Given the description of an element on the screen output the (x, y) to click on. 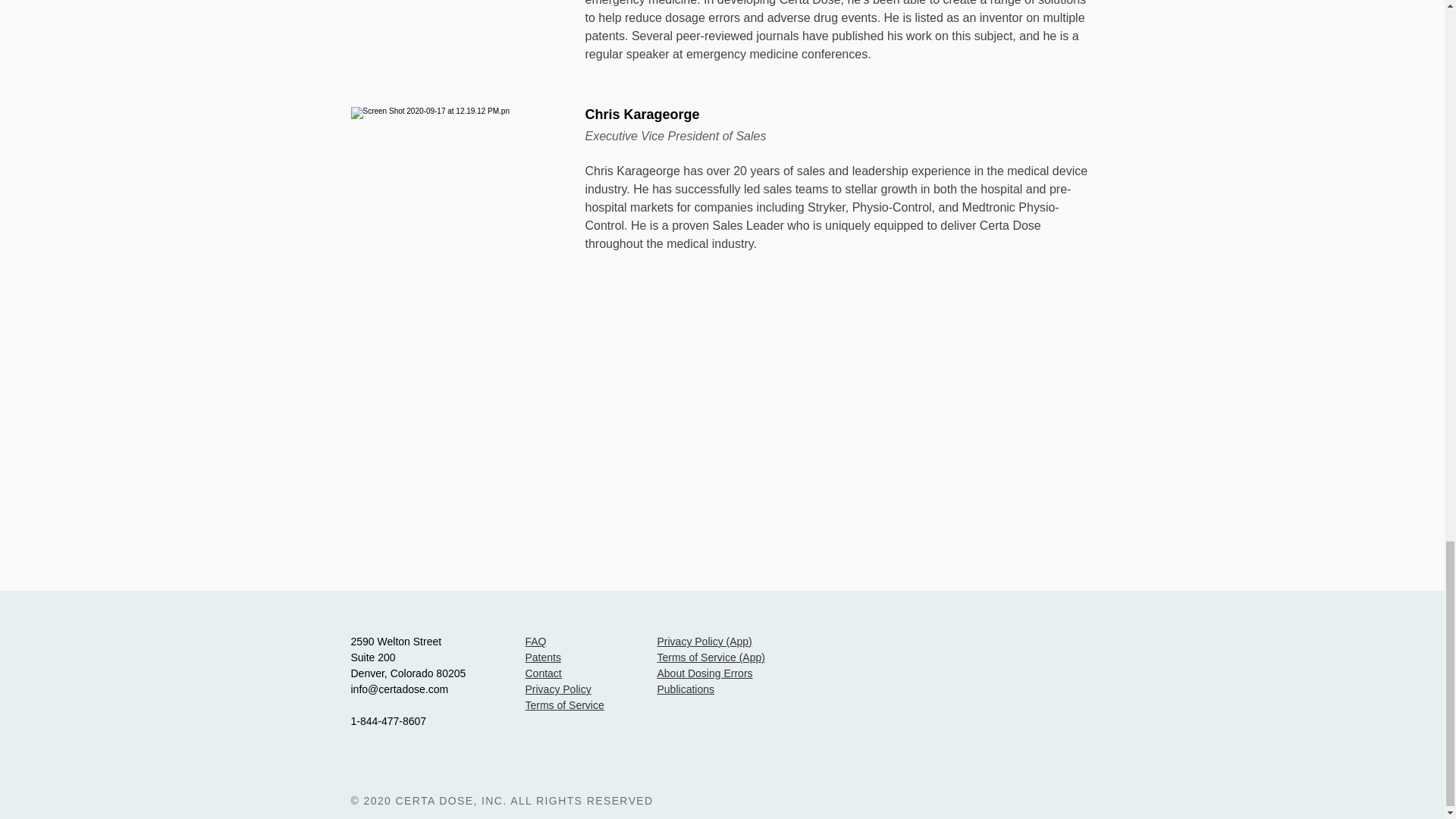
Contact (542, 673)
Privacy Policy (557, 689)
Terms of Service (564, 705)
About Dosing Errors (704, 673)
Publications (685, 689)
FAQ (535, 641)
Patents (542, 657)
